Given the description of an element on the screen output the (x, y) to click on. 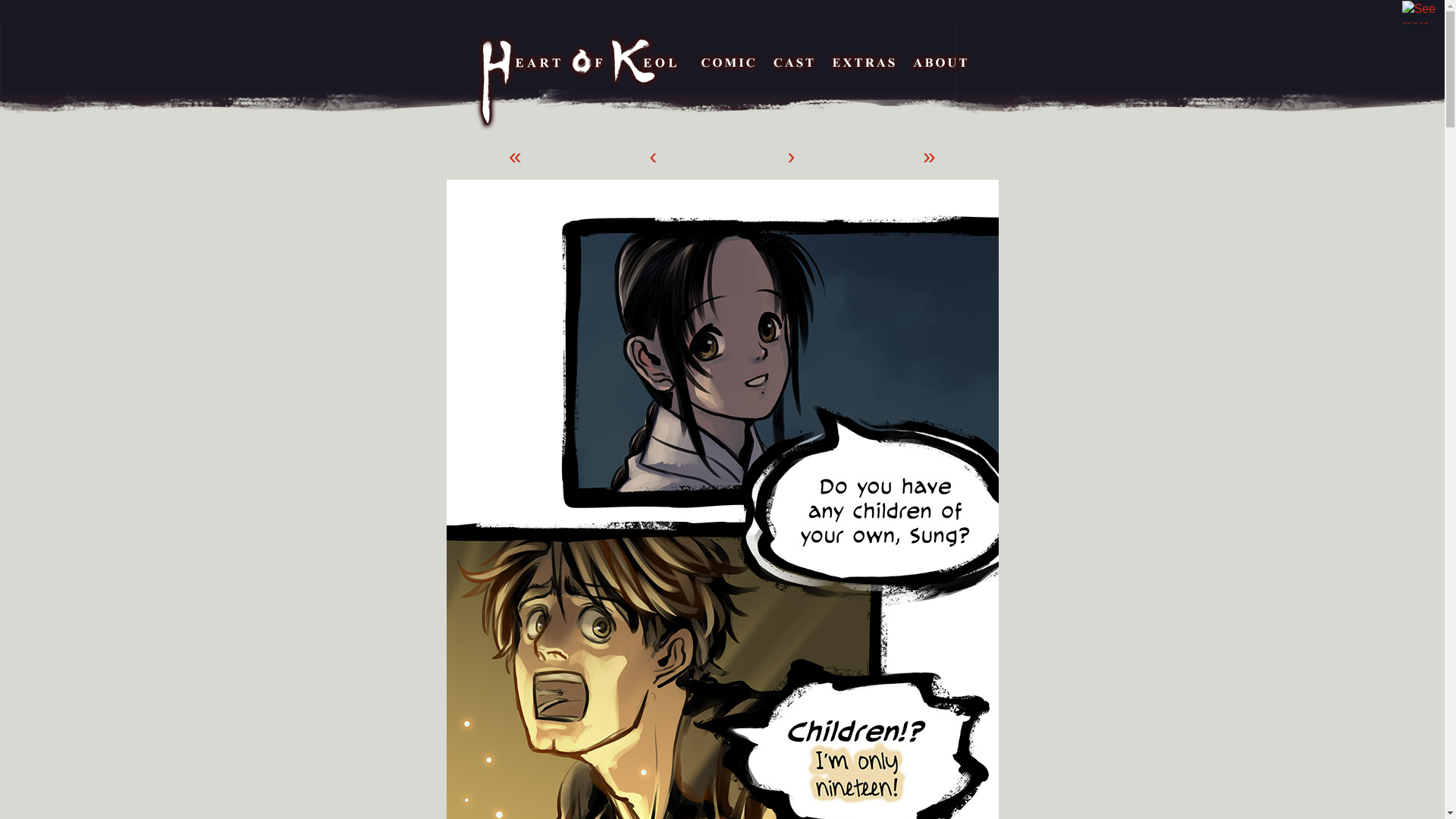
Home (580, 81)
The SpiderForest Webcomic Collective (34, 11)
